Given the description of an element on the screen output the (x, y) to click on. 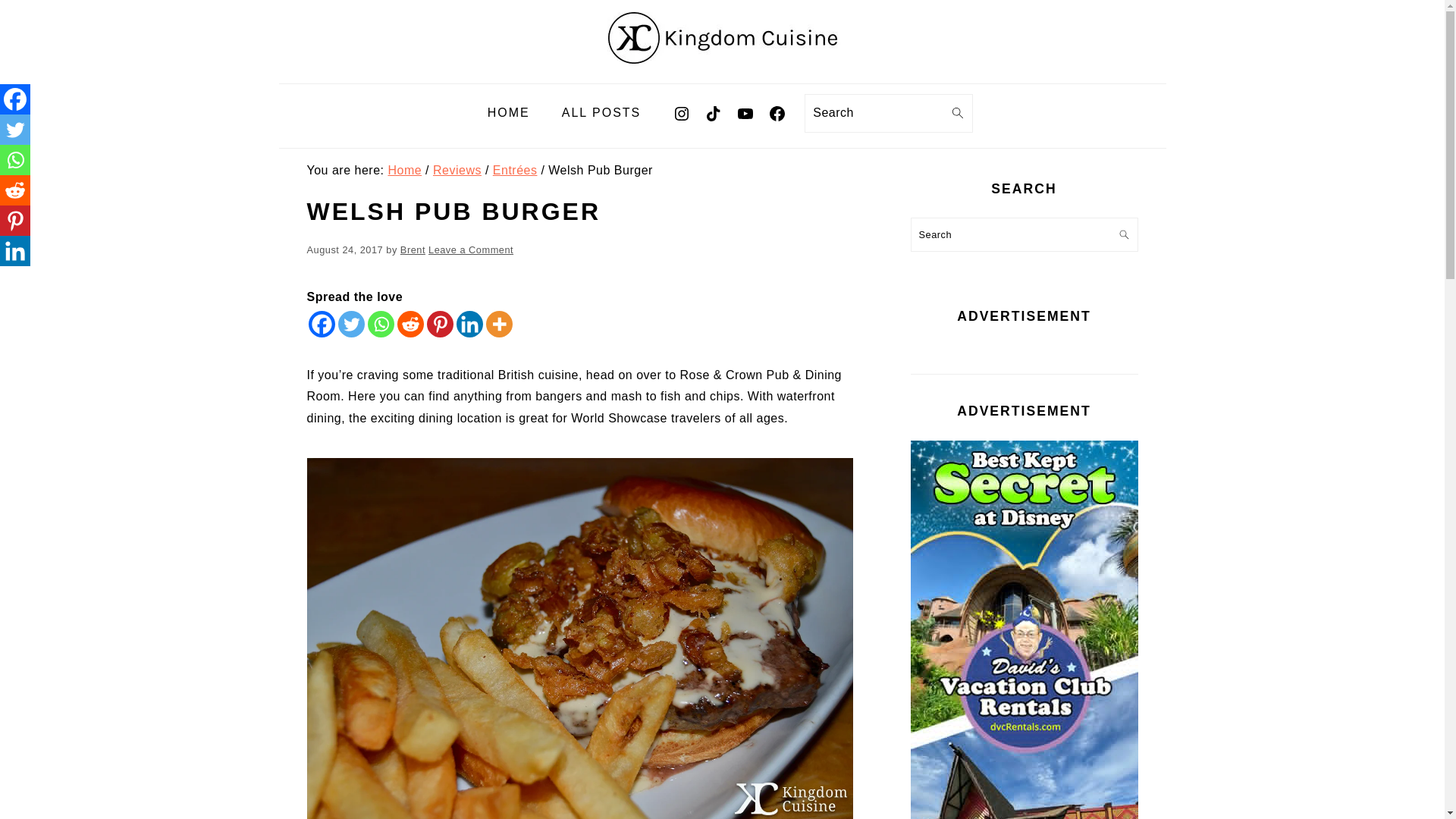
Kingdom Cuisine (721, 38)
More (498, 324)
Facebook (320, 324)
Kingdom Cuisine (721, 71)
Home (404, 169)
FACEBOOK (768, 104)
Pinterest (439, 324)
ALL POSTS (602, 113)
Linkedin (470, 324)
INSTAGRAM (672, 104)
Leave a Comment (470, 249)
Reviews (456, 169)
Twitter (351, 324)
Reddit (410, 324)
